Given the description of an element on the screen output the (x, y) to click on. 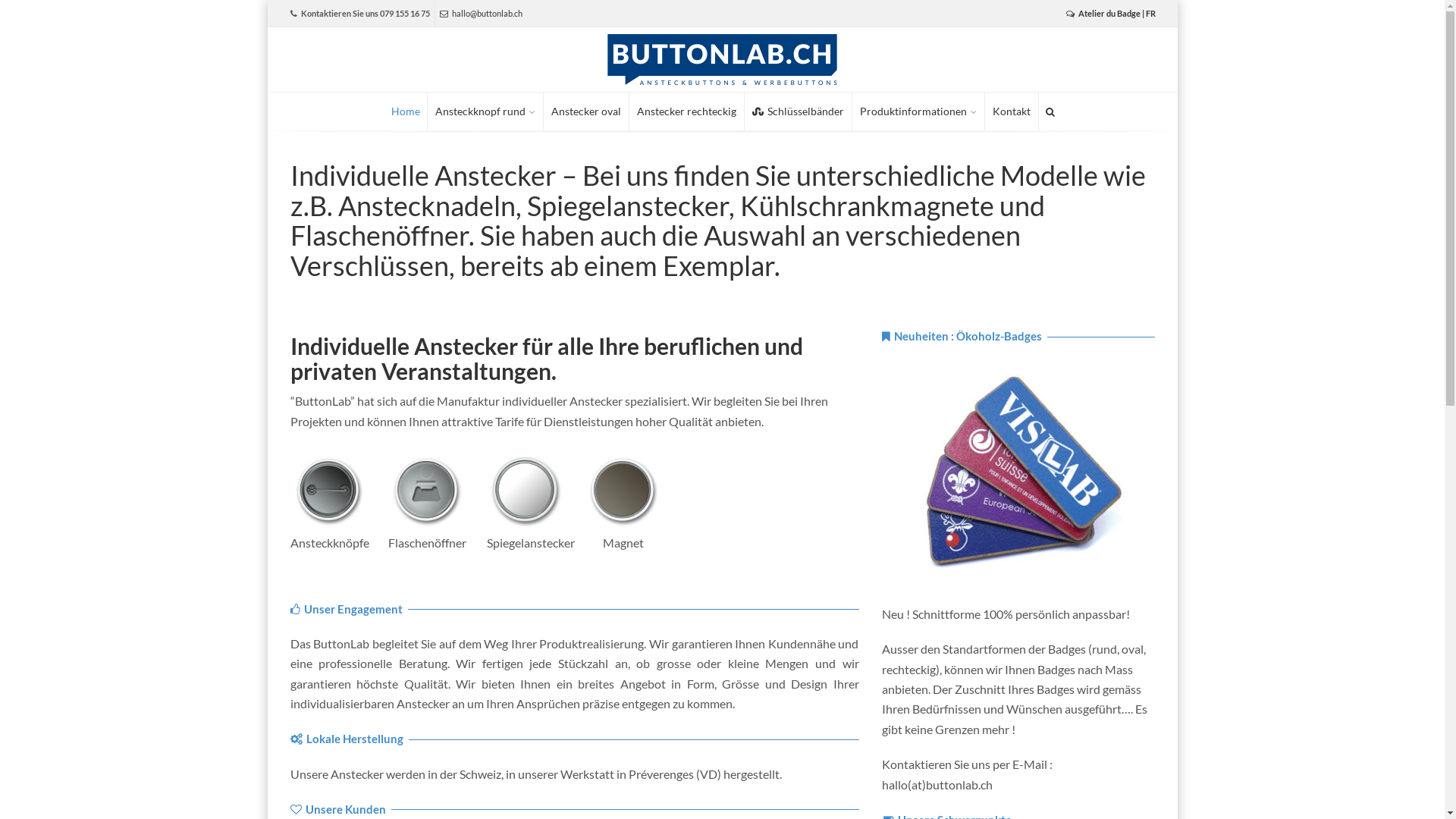
Anstecker oval Element type: text (584, 111)
Anstecker rechteckig Element type: text (686, 111)
Atelier du Badge | FR Element type: text (1110, 13)
Kontakt Element type: text (1010, 111)
hallo@buttonlab.ch Element type: text (480, 13)
Home Element type: text (405, 111)
Ansteckknopf rund Element type: text (484, 111)
Produktinformationen Element type: text (918, 111)
